Given the description of an element on the screen output the (x, y) to click on. 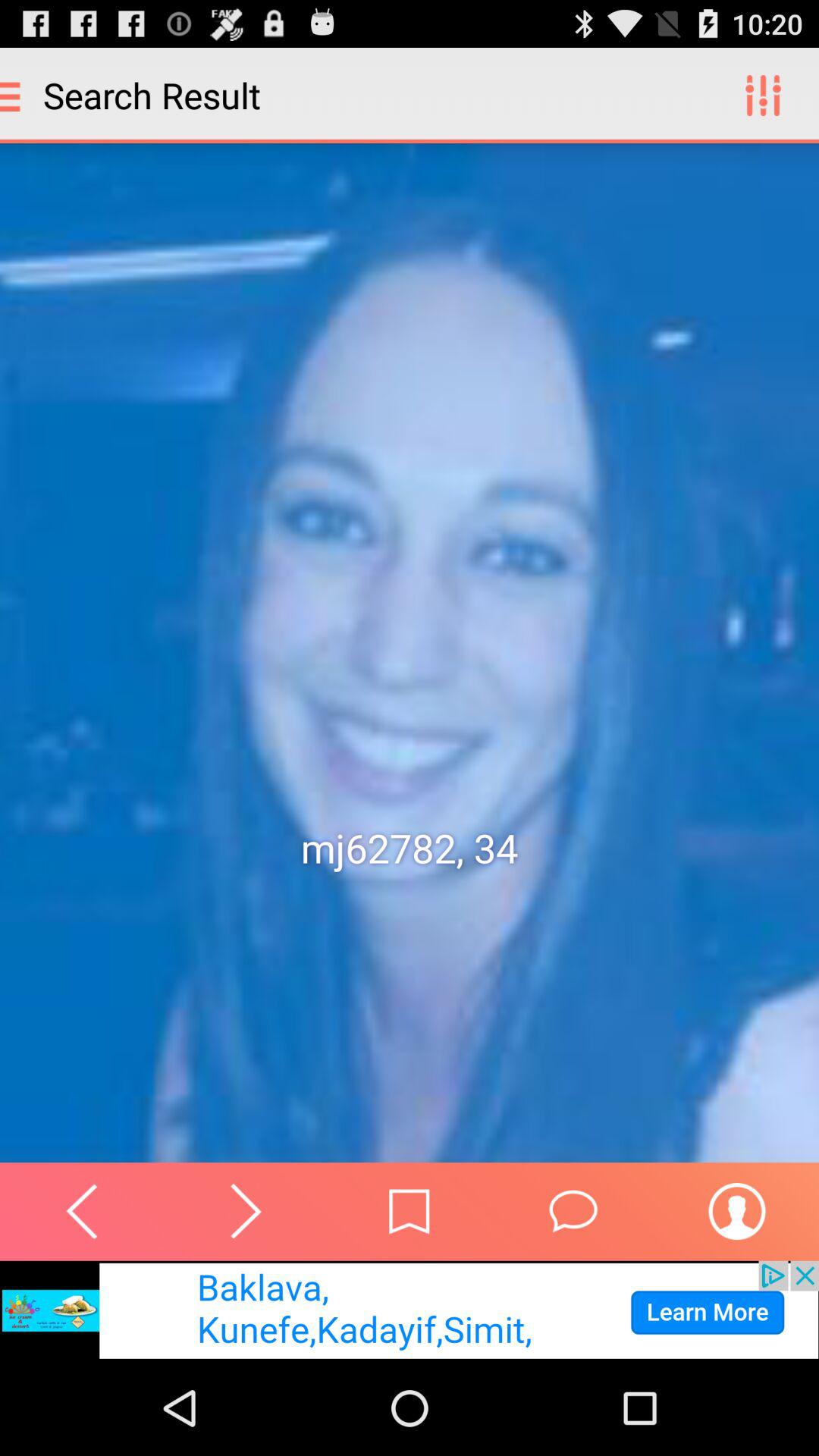
view the chat option (573, 1211)
